Given the description of an element on the screen output the (x, y) to click on. 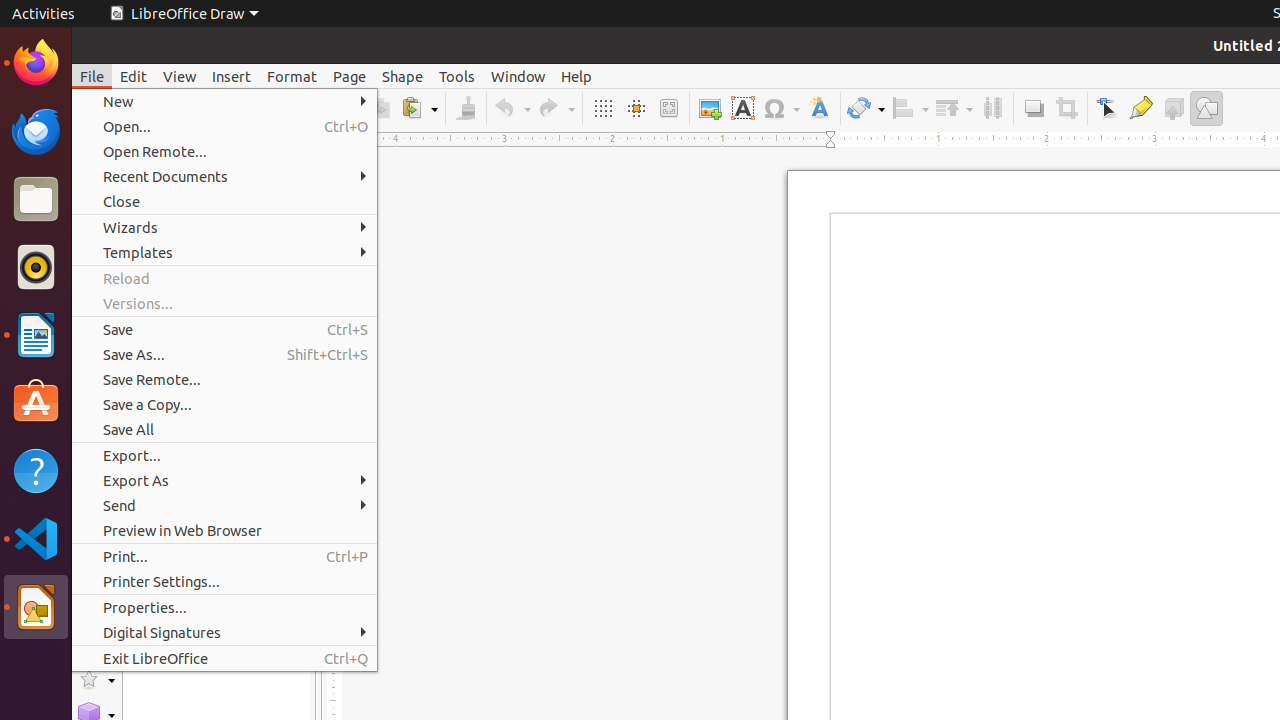
Fill Color Element type: push-button (259, 144)
Image Element type: push-button (709, 108)
Print... Element type: menu-item (224, 556)
Save Element type: menu-item (224, 329)
Close Pane Element type: push-button (303, 146)
